Given the description of an element on the screen output the (x, y) to click on. 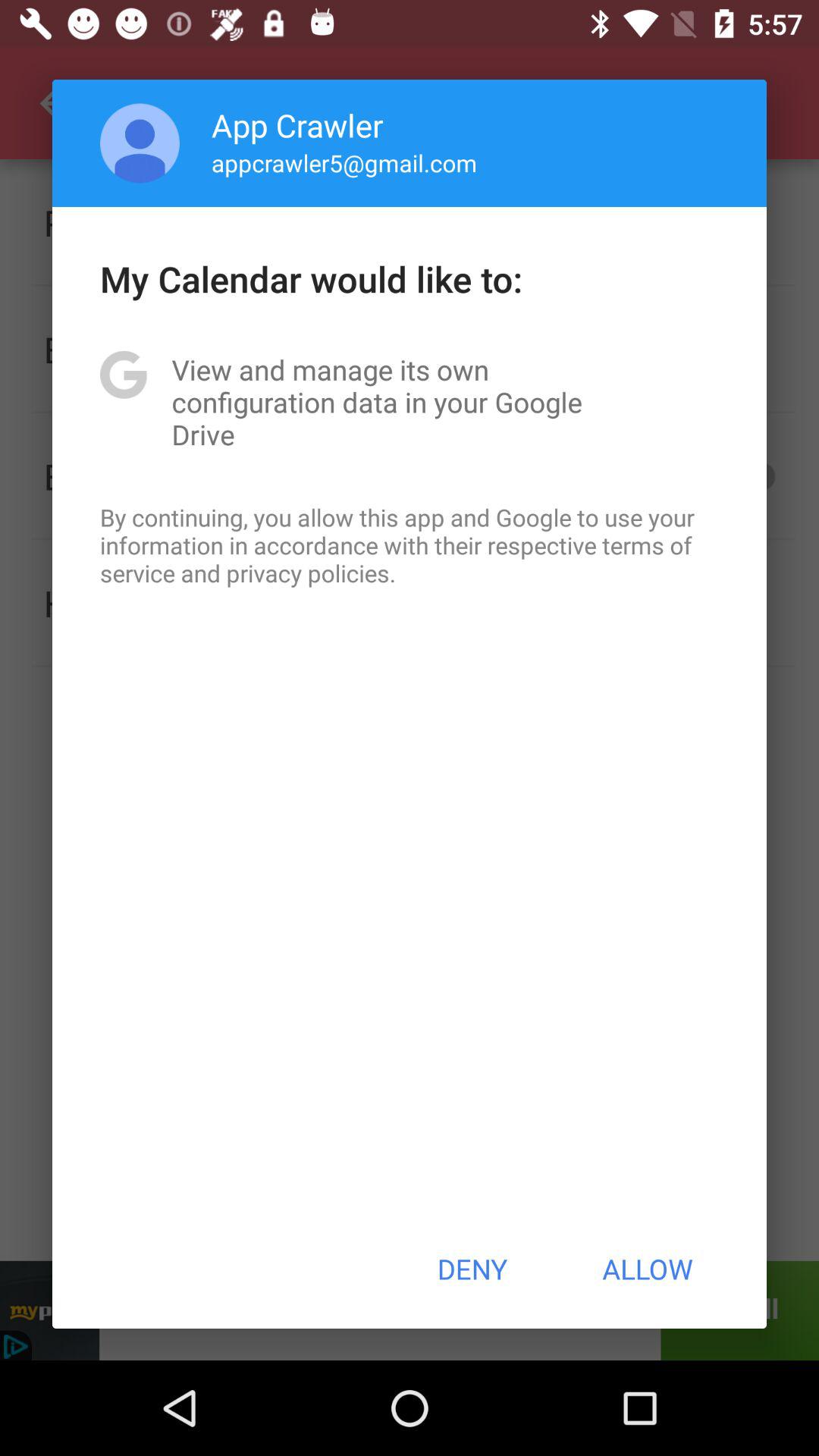
select view and manage icon (409, 401)
